Given the description of an element on the screen output the (x, y) to click on. 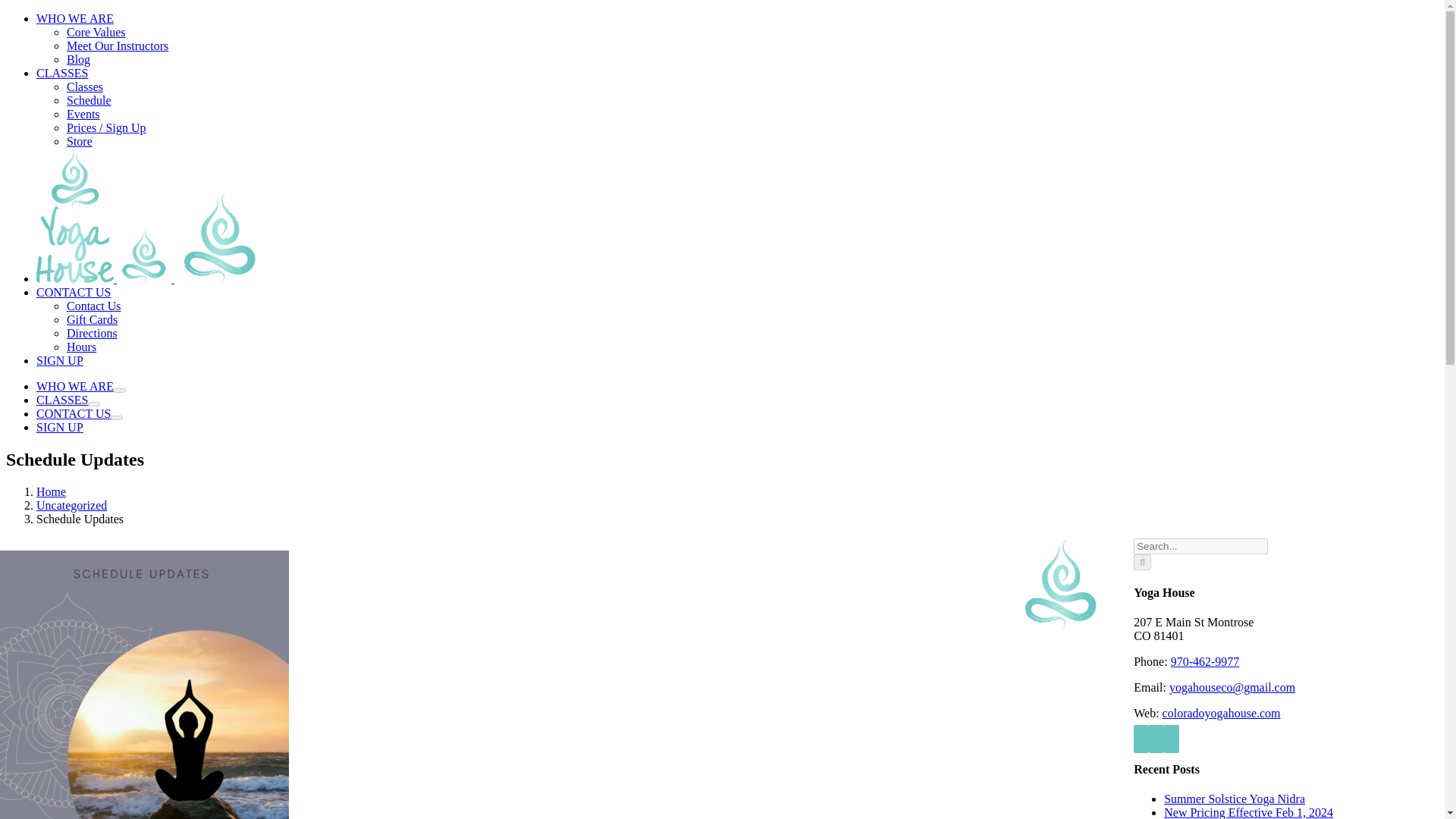
SIGN UP (59, 427)
CONTACT US (73, 291)
Store (79, 141)
Blog (78, 59)
Meet Our Instructors (117, 45)
Gift Cards (91, 318)
Home (50, 491)
WHO WE ARE (74, 18)
CLASSES (61, 72)
Schedule (89, 100)
CONTACT US (73, 413)
Events (83, 113)
SIGN UP (59, 359)
Core Values (95, 31)
